Given the description of an element on the screen output the (x, y) to click on. 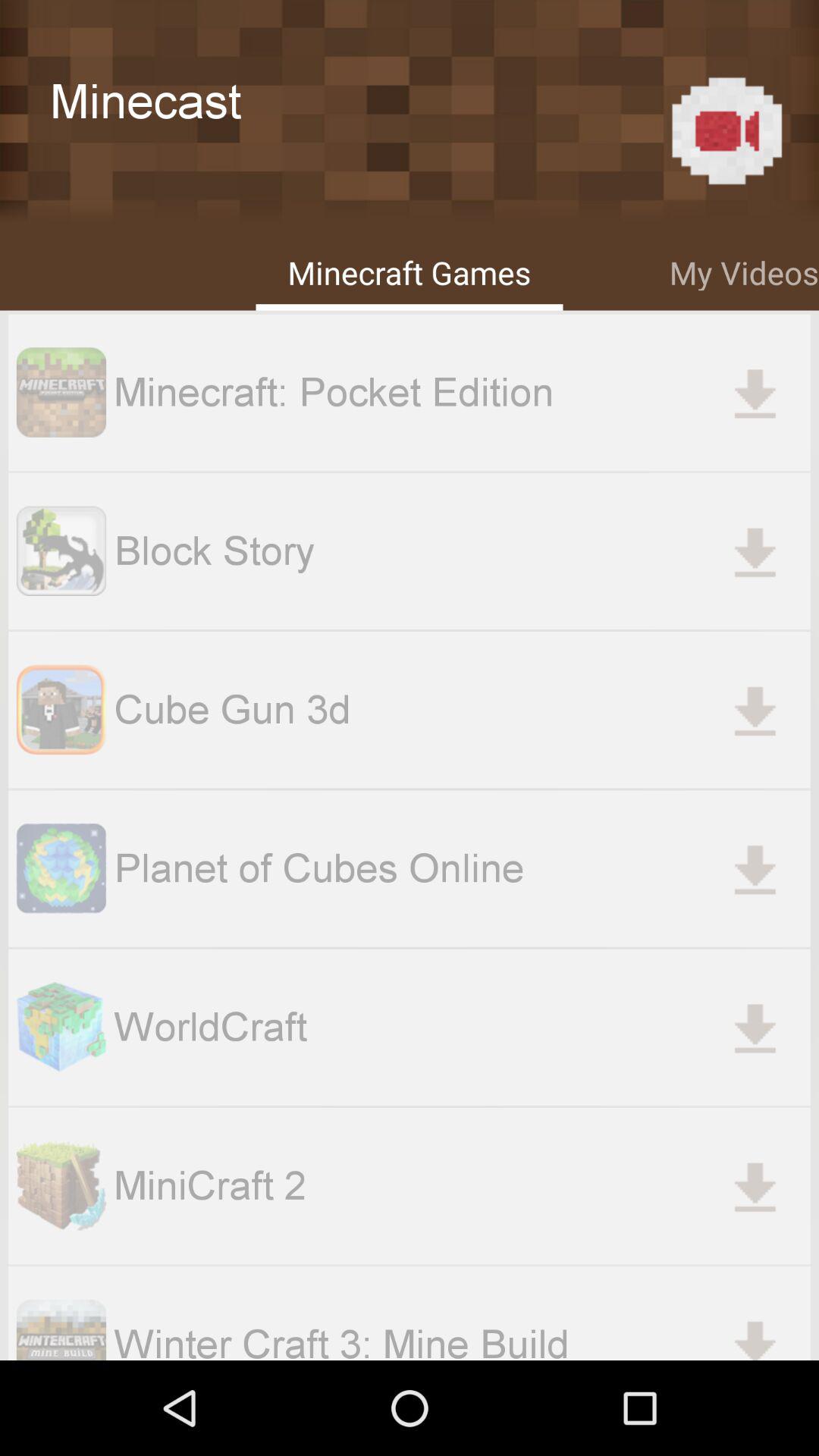
open item above my videos item (726, 130)
